Given the description of an element on the screen output the (x, y) to click on. 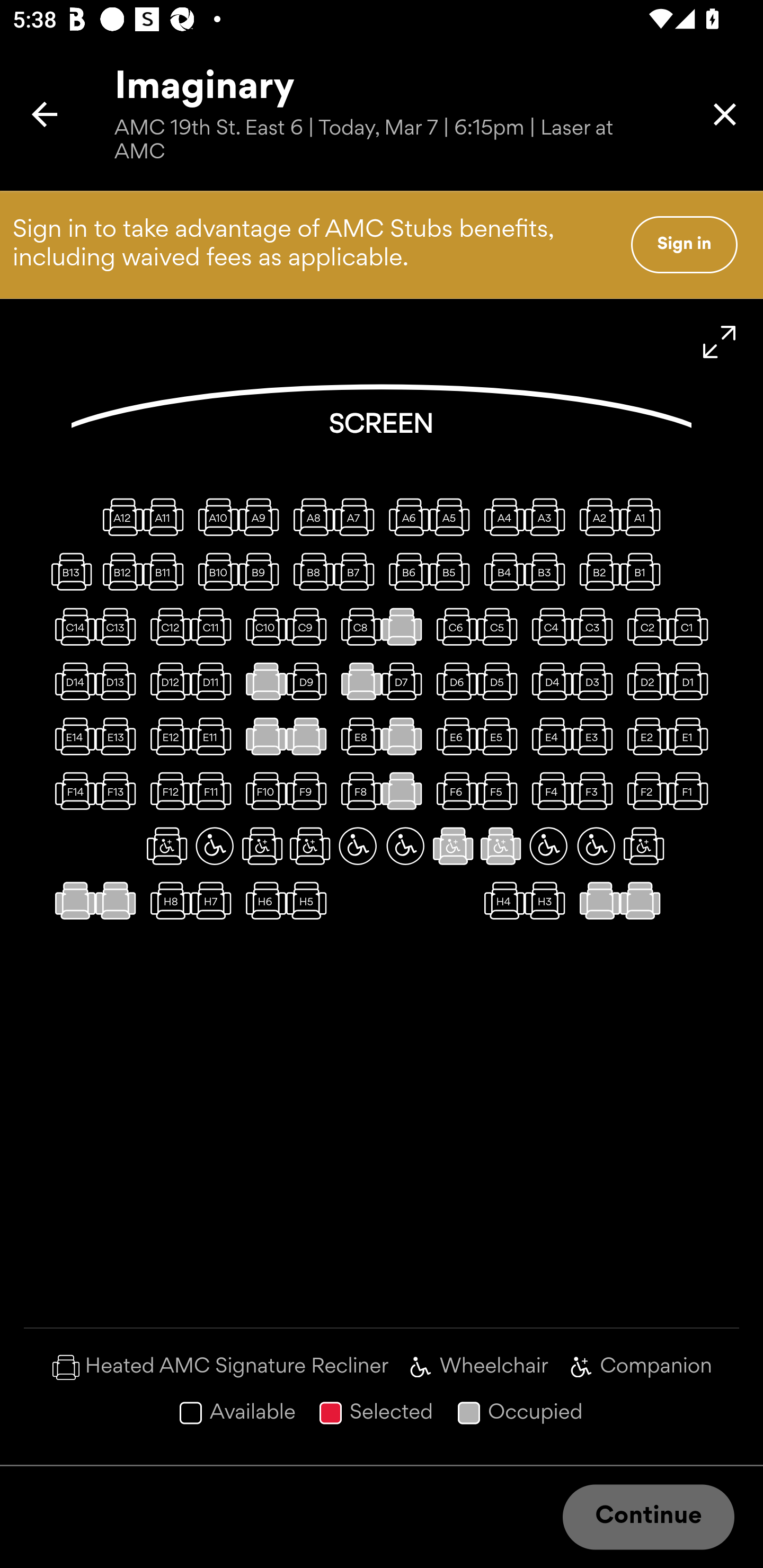
Back (44, 114)
Close (724, 114)
Sign in (684, 244)
Zoom (719, 342)
A12, Regular seat, available (119, 516)
A11, Regular seat, available (166, 516)
A10, Regular seat, available (214, 516)
A9, Regular seat, available (262, 516)
A8, Regular seat, available (310, 516)
A7, Regular seat, available (357, 516)
A6, Regular seat, available (404, 516)
A5, Regular seat, available (452, 516)
A4, Regular seat, available (500, 516)
A3, Regular seat, available (548, 516)
A2, Regular seat, available (595, 516)
A1, Regular seat, available (643, 516)
B13, Regular seat, available (71, 571)
B12, Regular seat, available (119, 571)
B11, Regular seat, available (166, 571)
B10, Regular seat, available (214, 571)
B9, Regular seat, available (262, 571)
B8, Regular seat, available (310, 571)
B7, Regular seat, available (357, 571)
B6, Regular seat, available (404, 571)
B5, Regular seat, available (452, 571)
B4, Regular seat, available (500, 571)
B3, Regular seat, available (548, 571)
B2, Regular seat, available (595, 571)
B1, Regular seat, available (643, 571)
C14, Regular seat, available (71, 625)
C13, Regular seat, available (119, 625)
C12, Regular seat, available (166, 625)
C11, Regular seat, available (214, 625)
C10, Regular seat, available (262, 625)
C9, Regular seat, available (310, 625)
C8, Regular seat, available (357, 625)
C6, Regular seat, available (452, 625)
C5, Regular seat, available (500, 625)
C4, Regular seat, available (548, 625)
C3, Regular seat, available (595, 625)
C2, Regular seat, available (643, 625)
C1, Regular seat, available (691, 625)
D14, Regular seat, available (71, 680)
D13, Regular seat, available (119, 680)
D12, Regular seat, available (166, 680)
D11, Regular seat, available (214, 680)
D9, Regular seat, available (310, 680)
D7, Regular seat, available (404, 680)
D6, Regular seat, available (452, 680)
D5, Regular seat, available (500, 680)
D4, Regular seat, available (548, 680)
D3, Regular seat, available (595, 680)
D2, Regular seat, available (643, 680)
D1, Regular seat, available (691, 680)
E14, Regular seat, available (71, 735)
E13, Regular seat, available (119, 735)
E12, Regular seat, available (166, 735)
E11, Regular seat, available (214, 735)
E8, Regular seat, available (357, 735)
E6, Regular seat, available (452, 735)
E5, Regular seat, available (500, 735)
E4, Regular seat, available (548, 735)
E3, Regular seat, available (595, 735)
E2, Regular seat, available (643, 735)
E1, Regular seat, available (691, 735)
F14, Regular seat, available (71, 790)
F13, Regular seat, available (119, 790)
F12, Regular seat, available (166, 790)
F11, Regular seat, available (214, 790)
F10, Regular seat, available (262, 790)
F9, Regular seat, available (310, 790)
F8, Regular seat, available (357, 790)
F6, Regular seat, available (452, 790)
F5, Regular seat, available (500, 790)
F4, Regular seat, available (548, 790)
F3, Regular seat, available (595, 790)
F2, Regular seat, available (643, 790)
F1, Regular seat, available (691, 790)
G11, Wheelchair companion seat, available (166, 845)
G10, Wheelchair space, available (214, 845)
G9, Wheelchair companion seat, available (262, 845)
G8, Wheelchair companion seat, available (310, 845)
G7, Wheelchair space, available (357, 845)
G6, Wheelchair space, available (404, 845)
G3, Wheelchair space, available (548, 845)
G2, Wheelchair space, available (595, 845)
G1, Wheelchair companion seat, available (643, 845)
H8, Regular seat, available (166, 900)
H7, Regular seat, available (214, 900)
H6, Regular seat, available (262, 900)
H5, Regular seat, available (310, 900)
H4, Regular seat, available (500, 900)
H3, Regular seat, available (548, 900)
